Given the description of an element on the screen output the (x, y) to click on. 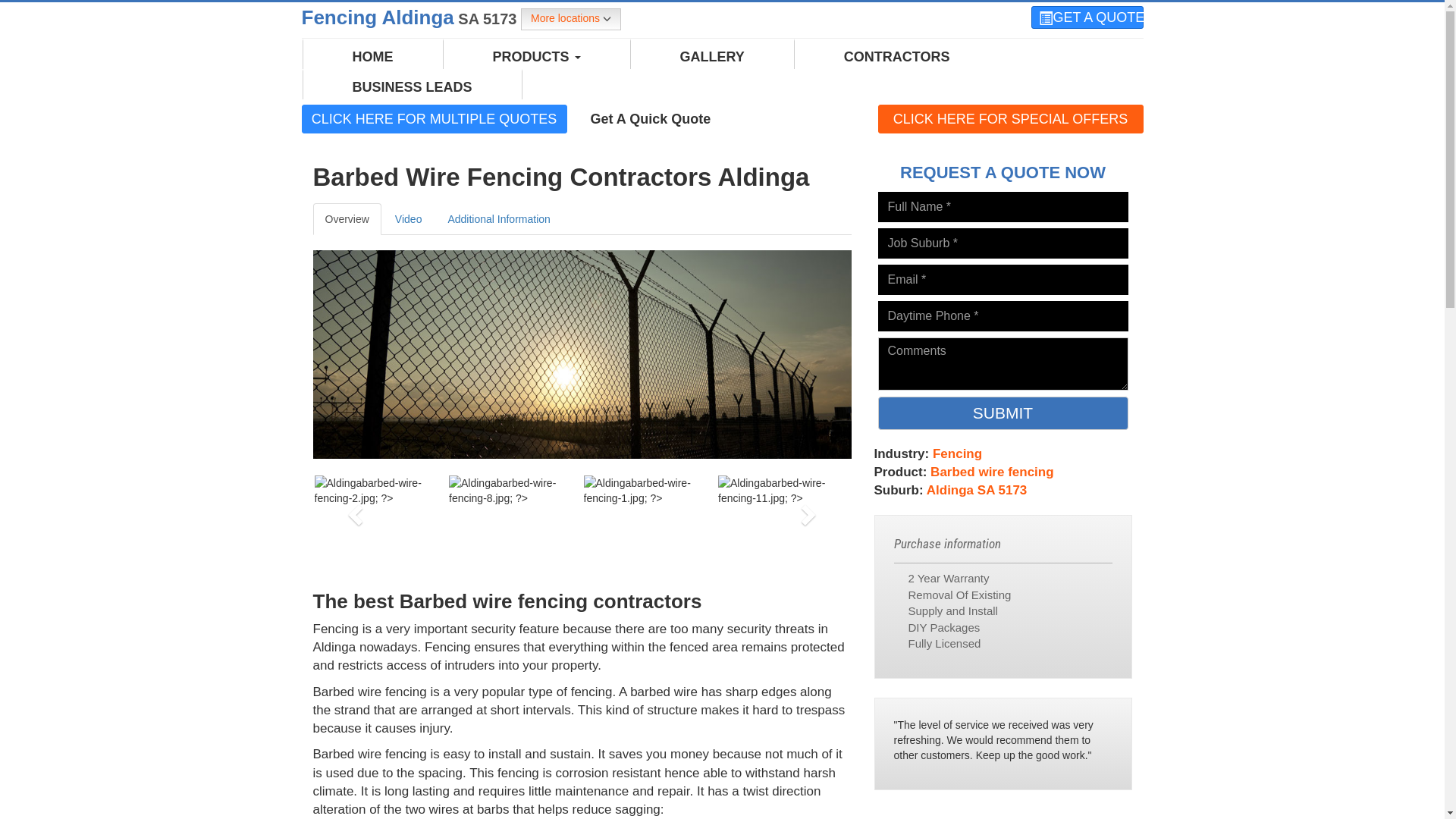
More locations Element type: text (570, 19)
Fencing Aldinga SA 5173 Element type: text (410, 17)
Get your business listed! Element type: text (793, 125)
Get A Quick Quote Element type: text (650, 118)
SUBMIT Element type: text (1003, 412)
HOME Element type: text (372, 56)
CONTRACTORS Element type: text (896, 56)
GALLERY Element type: text (712, 56)
Overview Element type: text (346, 219)
CLICK HERE FOR SPECIAL OFFERS Element type: text (1010, 118)
prev Element type: hover (352, 509)
Video Element type: text (408, 219)
Get A Quick Quote Element type: text (650, 118)
CLICK HERE FOR MULTIPLE QUOTES Element type: text (434, 118)
Additional Information Element type: text (498, 219)
CLICK HERE FOR MULTIPLE QUOTES Element type: text (434, 118)
GET A QUOTE Element type: text (1087, 17)
CLICK HERE FOR SPECIAL OFFERS Element type: text (1010, 118)
PRODUCTS Element type: text (535, 56)
BUSINESS LEADS Element type: text (412, 87)
